Given the description of an element on the screen output the (x, y) to click on. 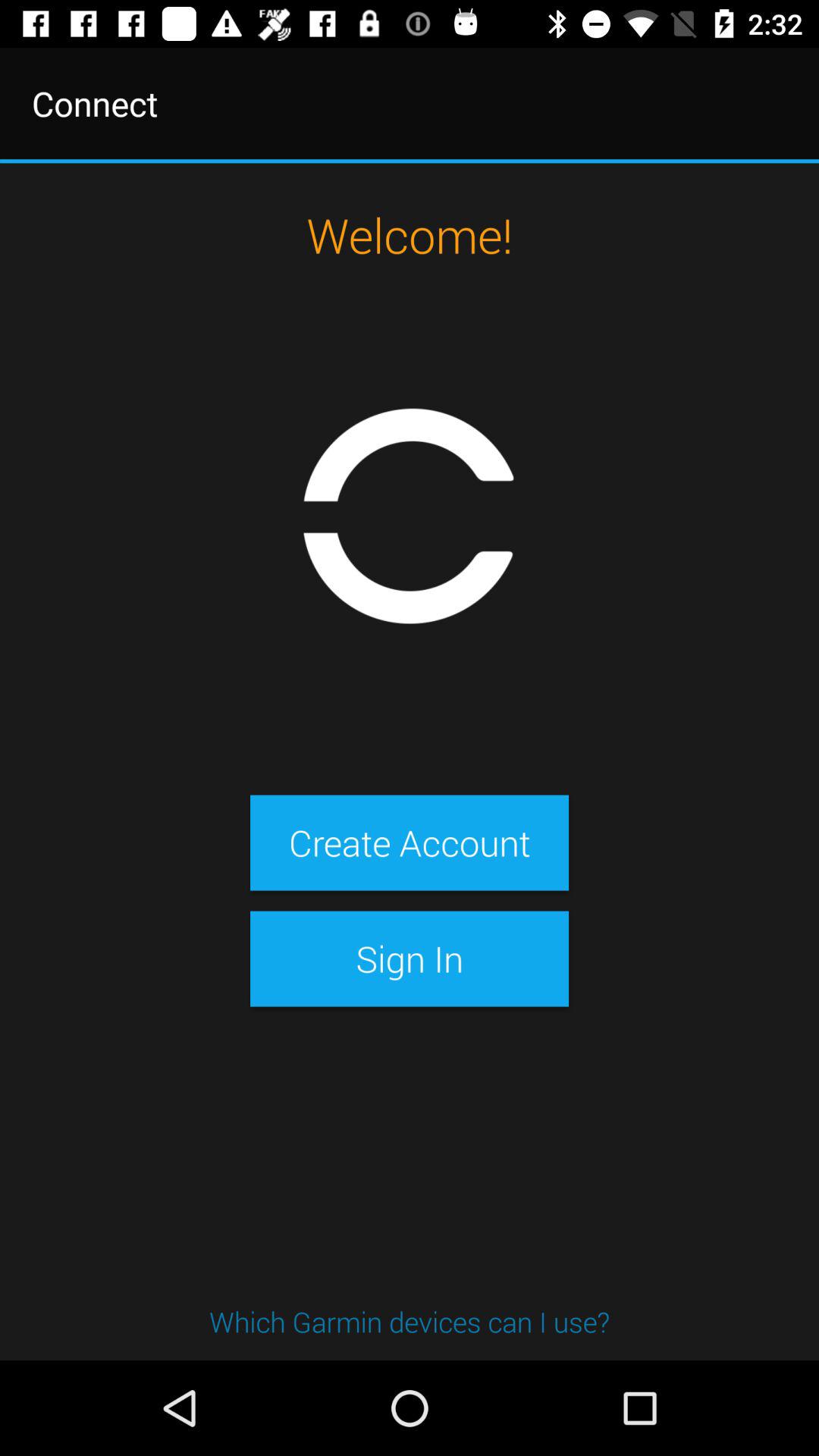
jump to sign in icon (409, 958)
